Given the description of an element on the screen output the (x, y) to click on. 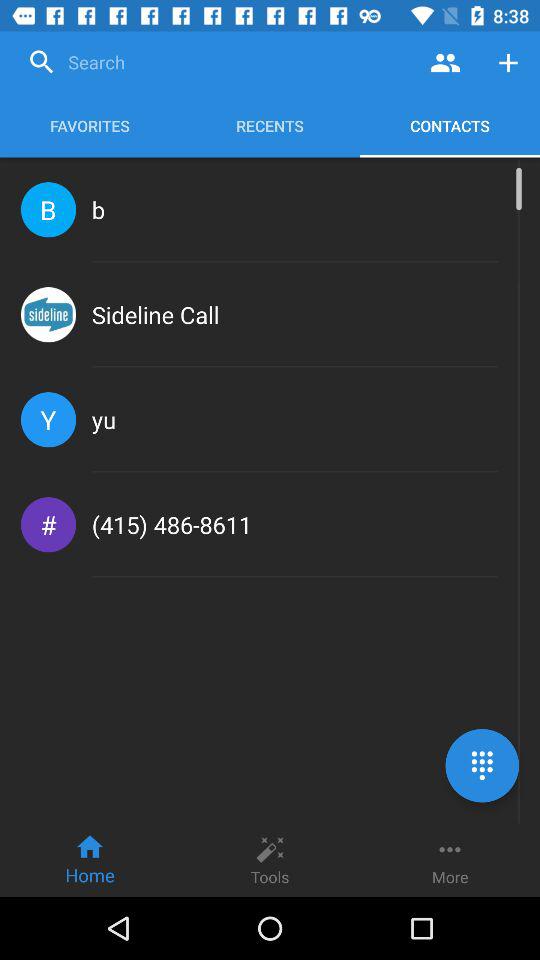
select the y item (48, 419)
